Given the description of an element on the screen output the (x, y) to click on. 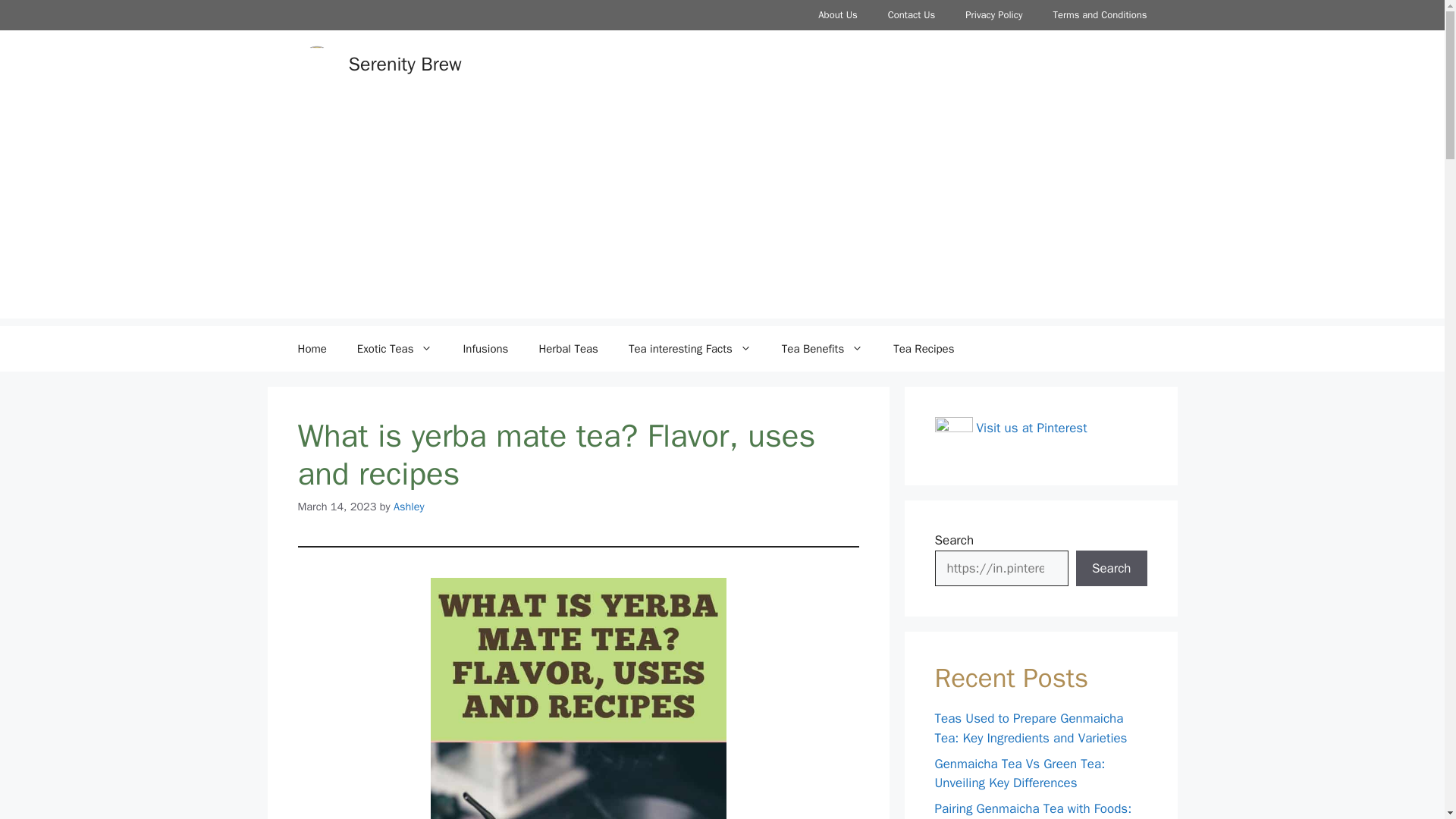
View all posts by Ashley (409, 506)
About Us (837, 15)
Infusions (484, 348)
Herbal Teas (567, 348)
Contact Us (911, 15)
Tea interesting Facts (689, 348)
Exotic Teas (395, 348)
Tea Benefits (822, 348)
Terms and Conditions (1098, 15)
Tea Recipes (923, 348)
Privacy Policy (993, 15)
Serenity Brew (405, 64)
Ashley (409, 506)
Home (311, 348)
